Given the description of an element on the screen output the (x, y) to click on. 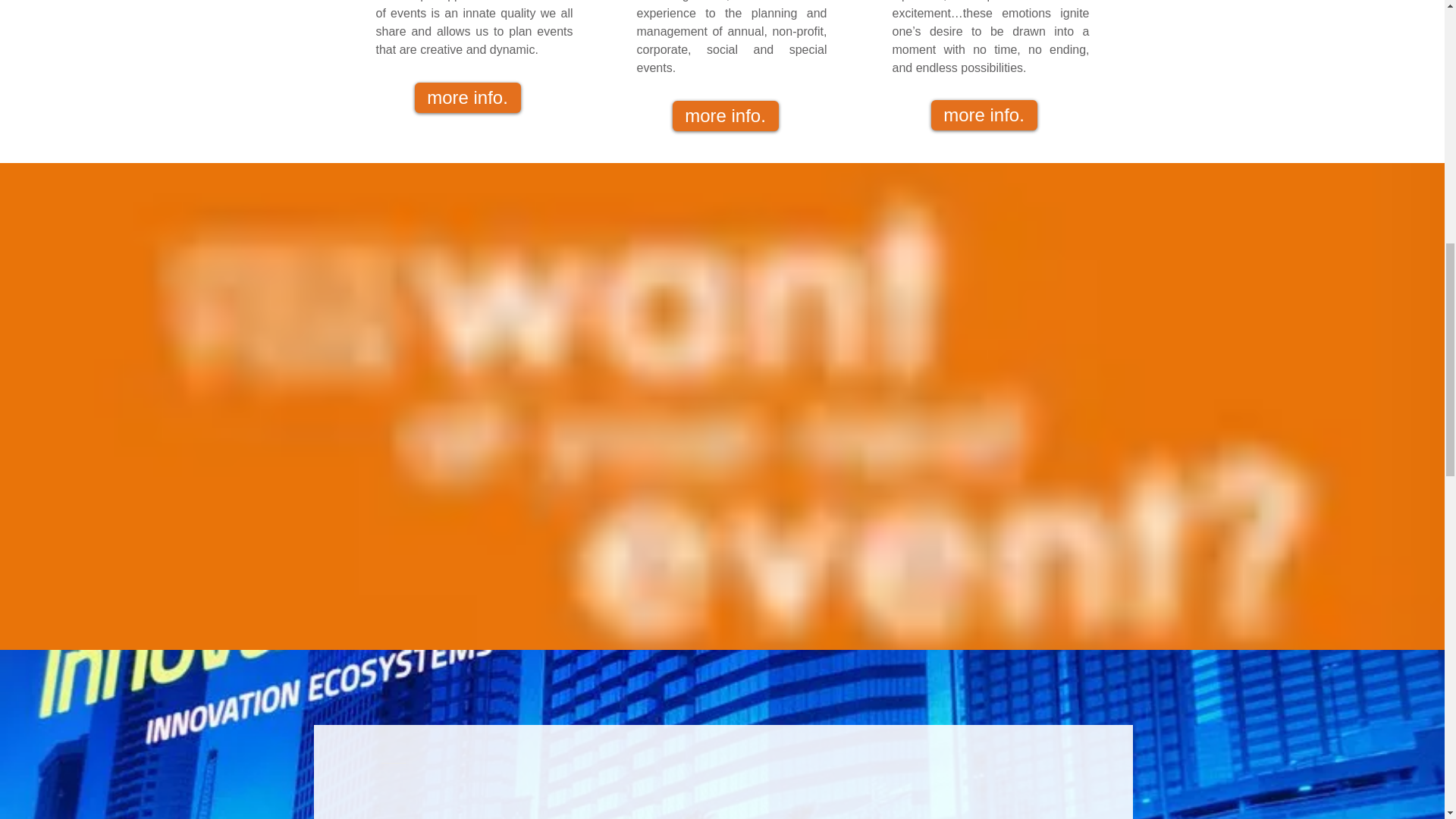
more info. (724, 115)
more info. (466, 97)
more info. (983, 114)
